Given the description of an element on the screen output the (x, y) to click on. 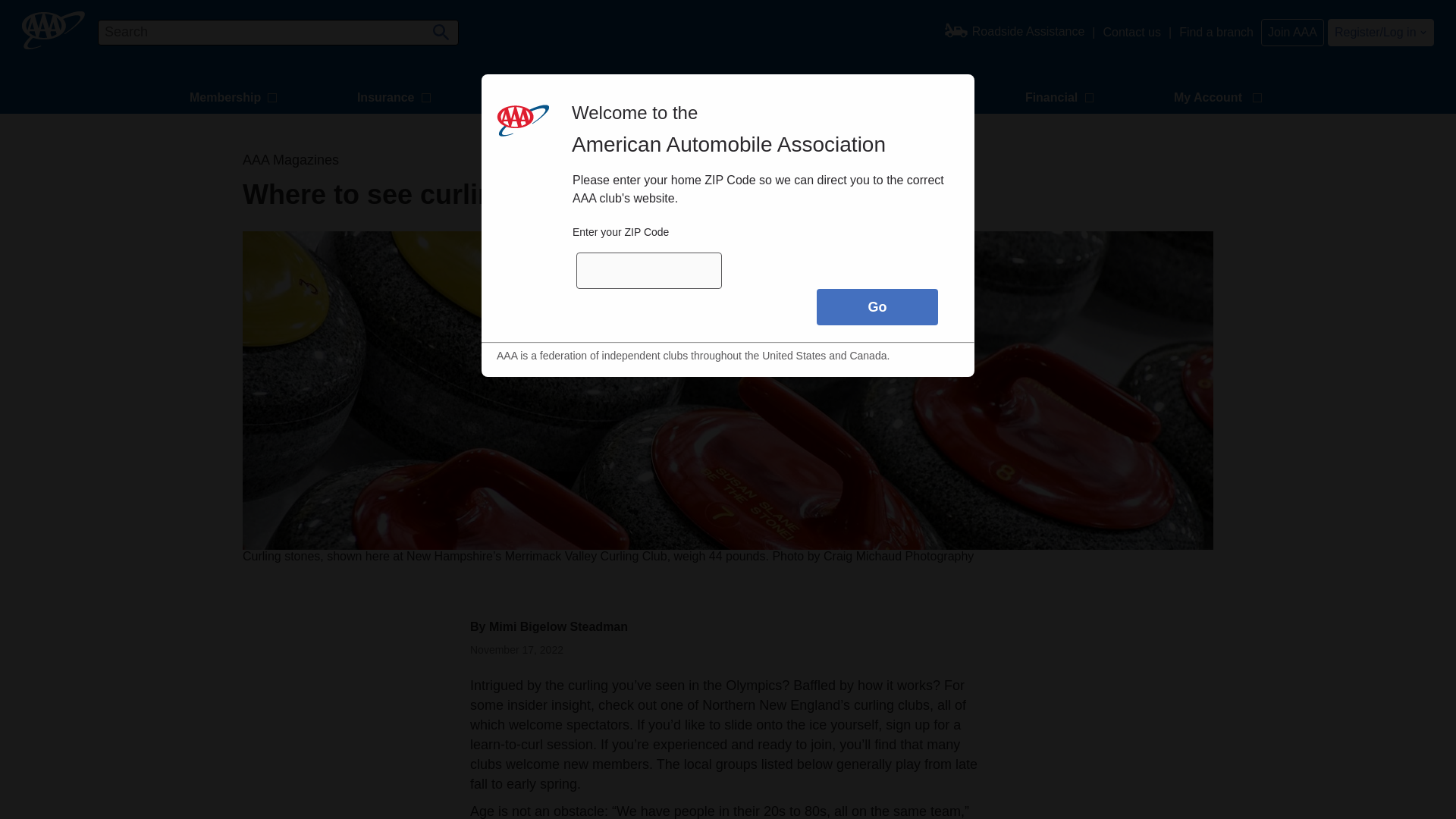
Automotive (905, 98)
Type search word (277, 32)
My Account (1220, 98)
Find a branch (1216, 31)
Membership (235, 98)
Join AAA (1291, 31)
Financial (1061, 98)
Automobile Club logo (52, 30)
Travel (537, 98)
Search (438, 26)
